Given the description of an element on the screen output the (x, y) to click on. 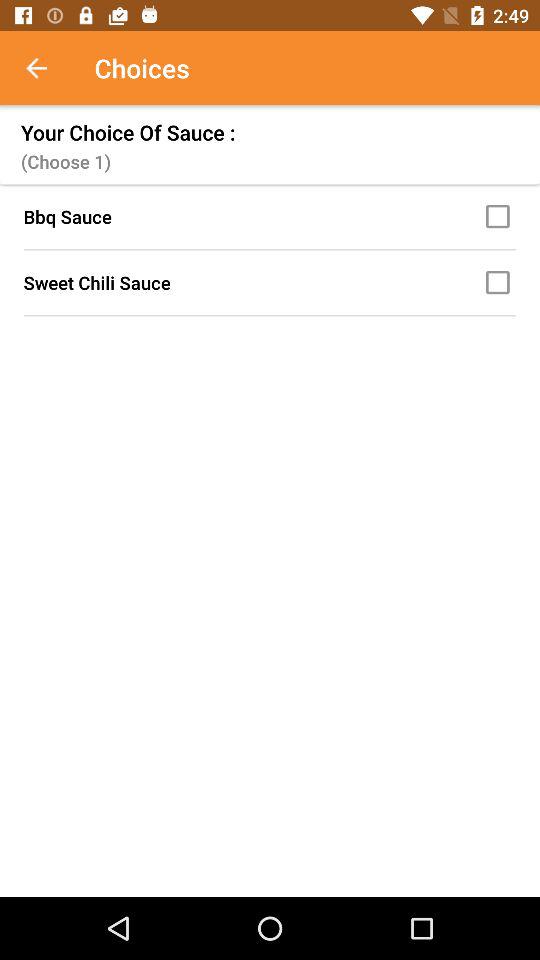
tap icon above the your choice of (47, 68)
